Given the description of an element on the screen output the (x, y) to click on. 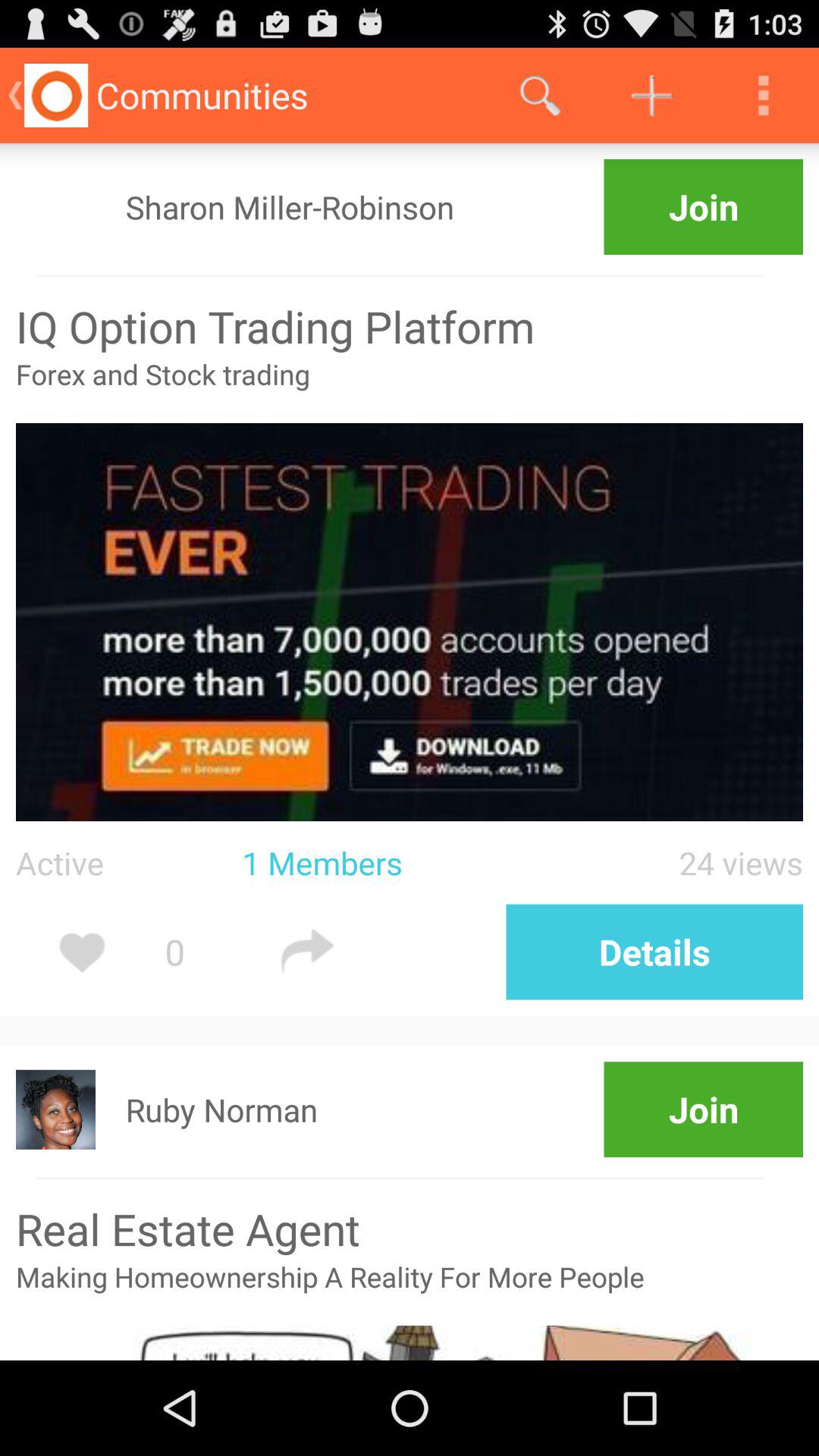
select the option join (703, 206)
select the button above join (654, 952)
select a image which is below forex and stock trading text (409, 622)
click forward icon beside details option (393, 952)
